Given the description of an element on the screen output the (x, y) to click on. 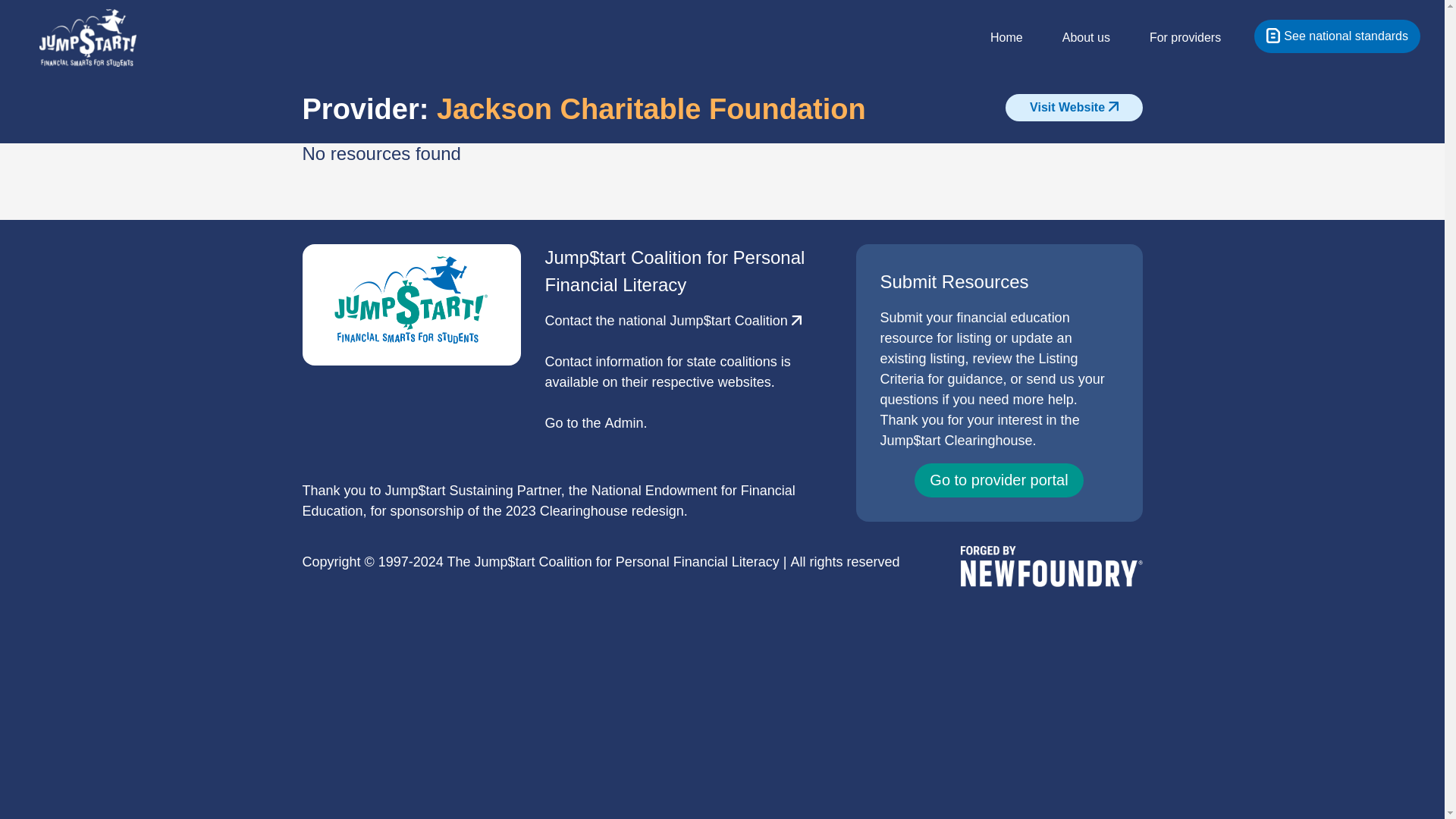
National Endowment for Financial Education, (547, 500)
See national standards (1337, 36)
Visit Website (1073, 107)
respective websites (711, 381)
Admin (624, 422)
About us (1099, 37)
Home (1020, 37)
For providers (1197, 37)
All rights reserved (844, 561)
Go to provider portal (998, 480)
